Given the description of an element on the screen output the (x, y) to click on. 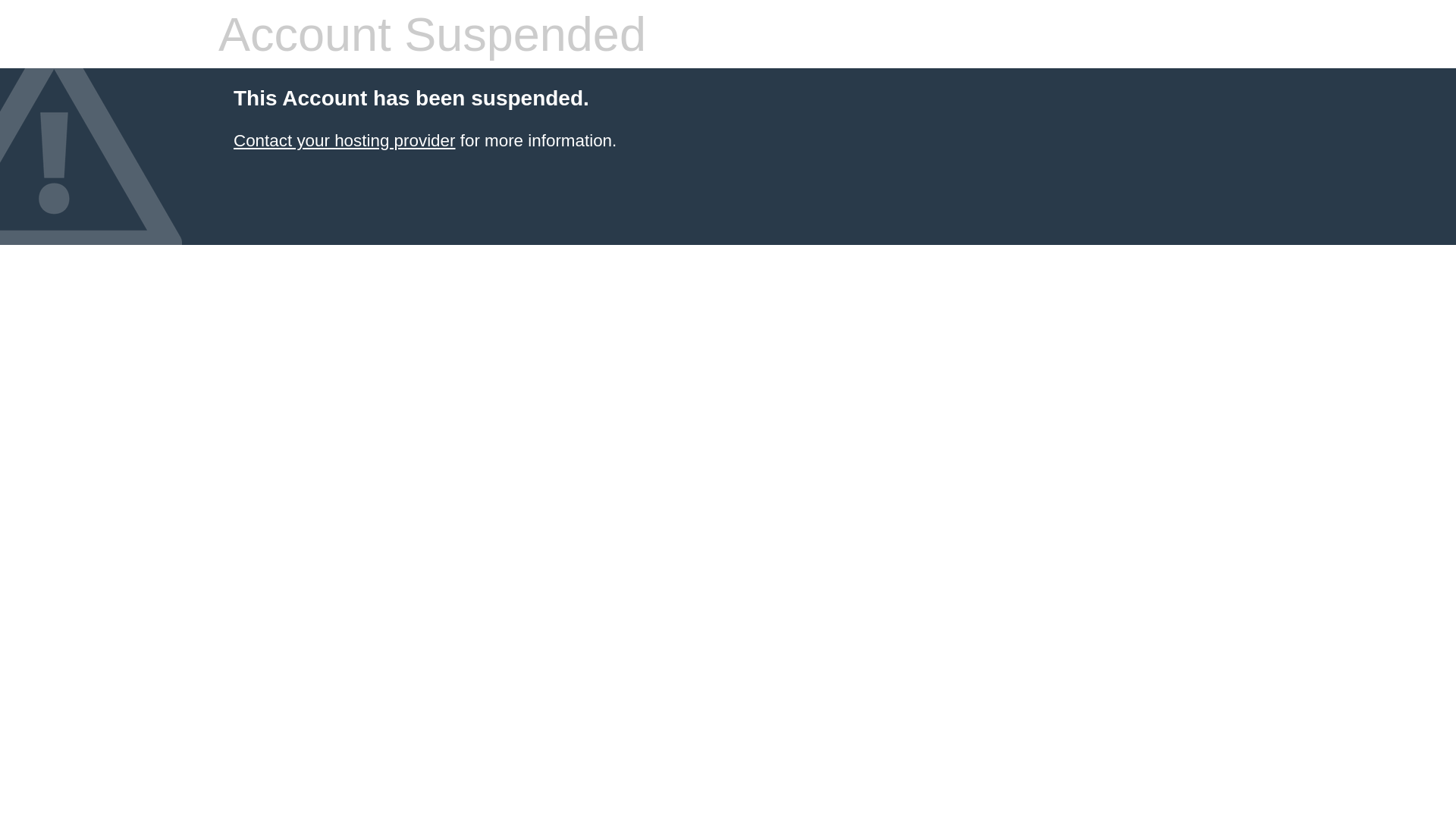
Contact your hosting provider Element type: text (344, 140)
